Given the description of an element on the screen output the (x, y) to click on. 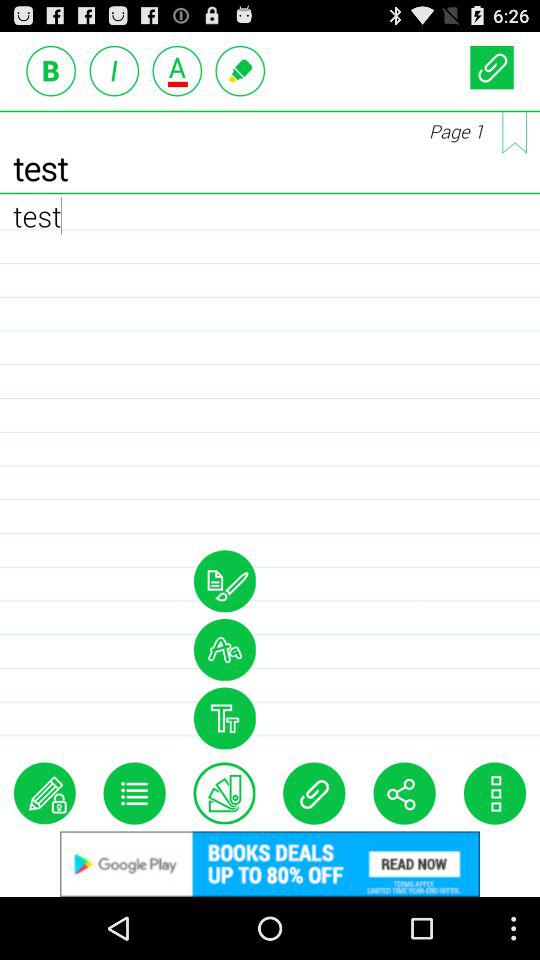
menu (134, 793)
